Given the description of an element on the screen output the (x, y) to click on. 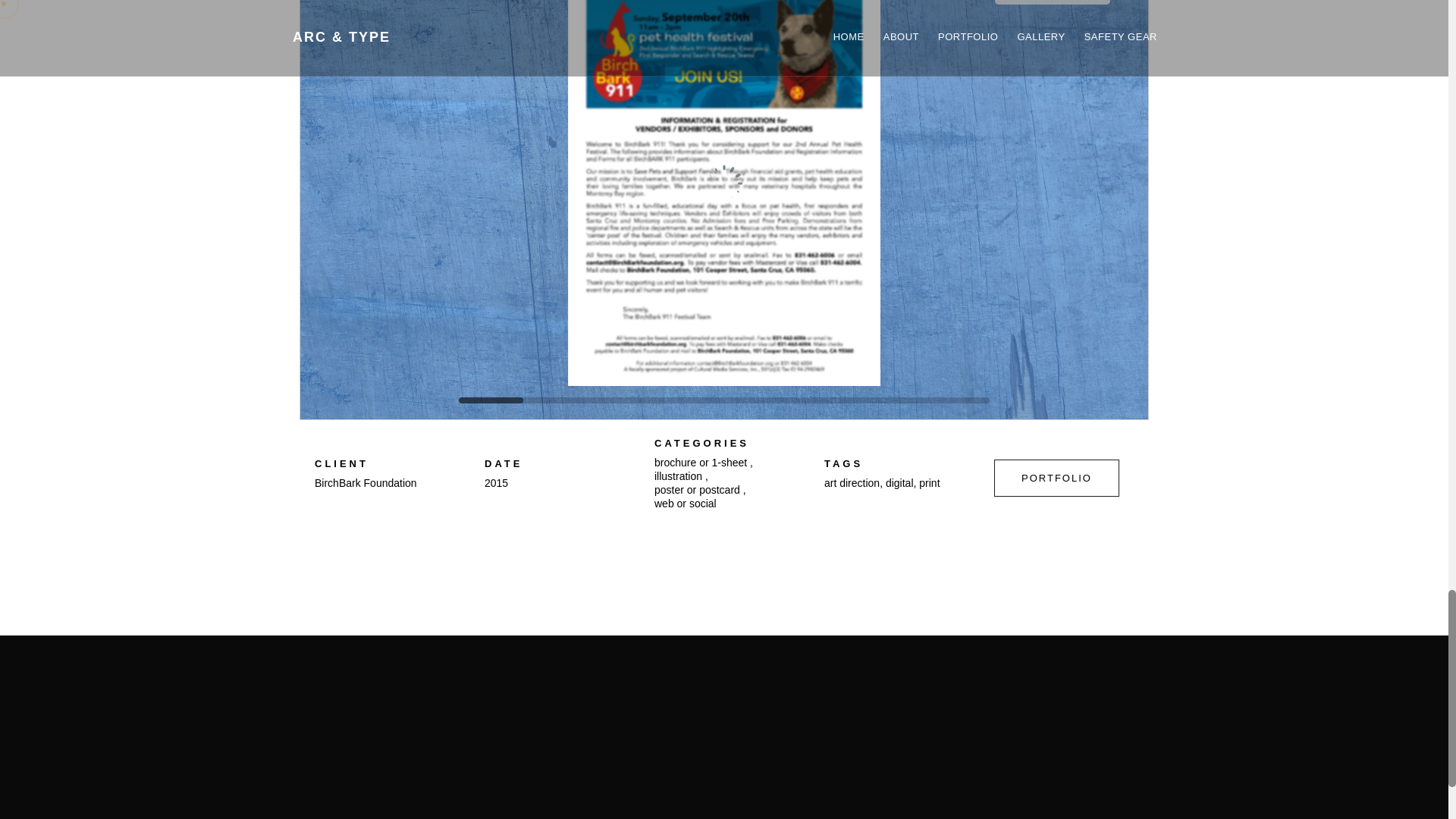
print (928, 482)
digital (899, 482)
poster or postcard (696, 489)
web or social (684, 503)
illustration (677, 476)
art direction (851, 482)
brochure or 1-sheet (699, 462)
PORTFOLIO (1056, 477)
